Given the description of an element on the screen output the (x, y) to click on. 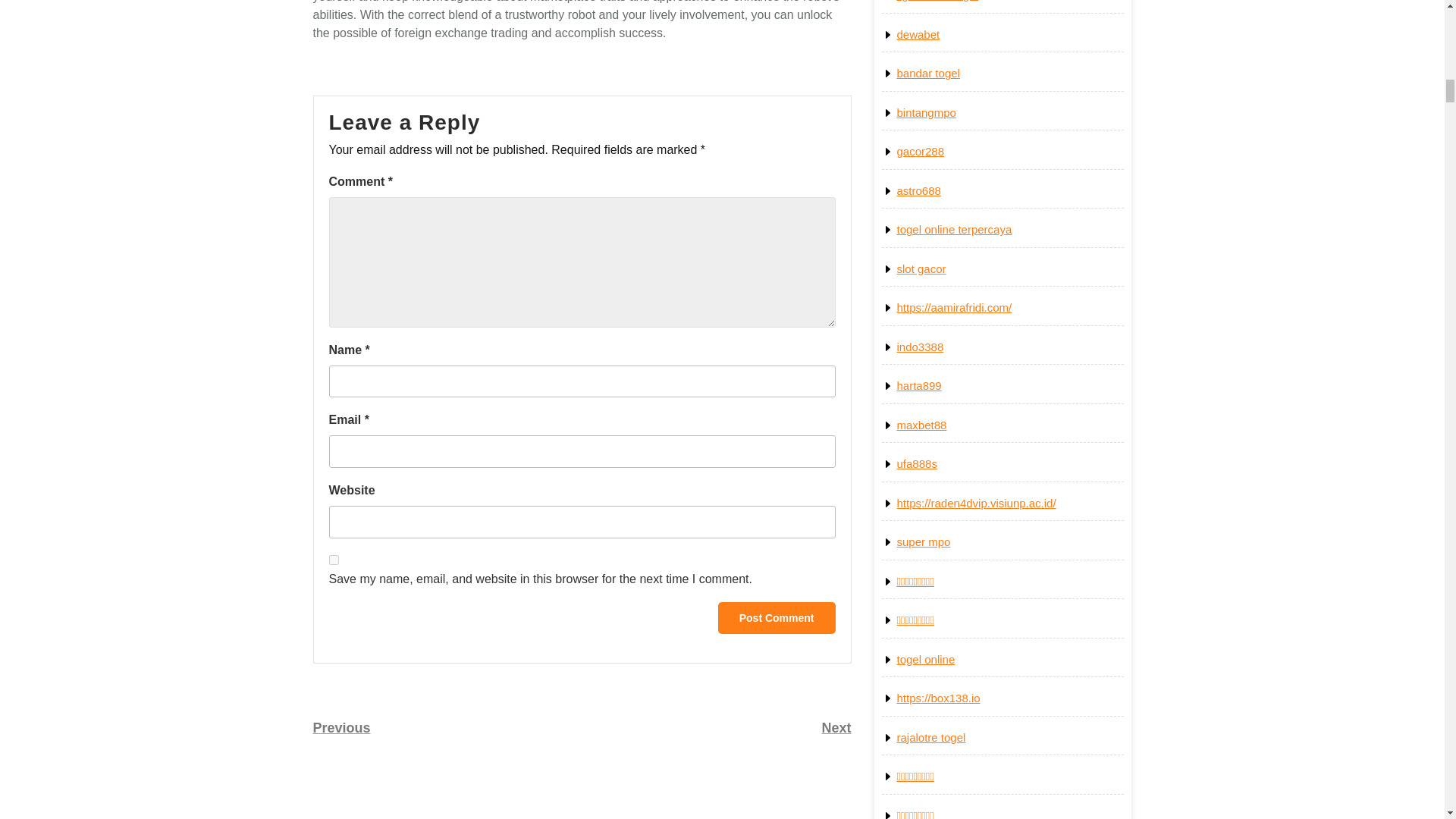
yes (334, 560)
Post Comment (446, 728)
Post Comment (776, 617)
